Given the description of an element on the screen output the (x, y) to click on. 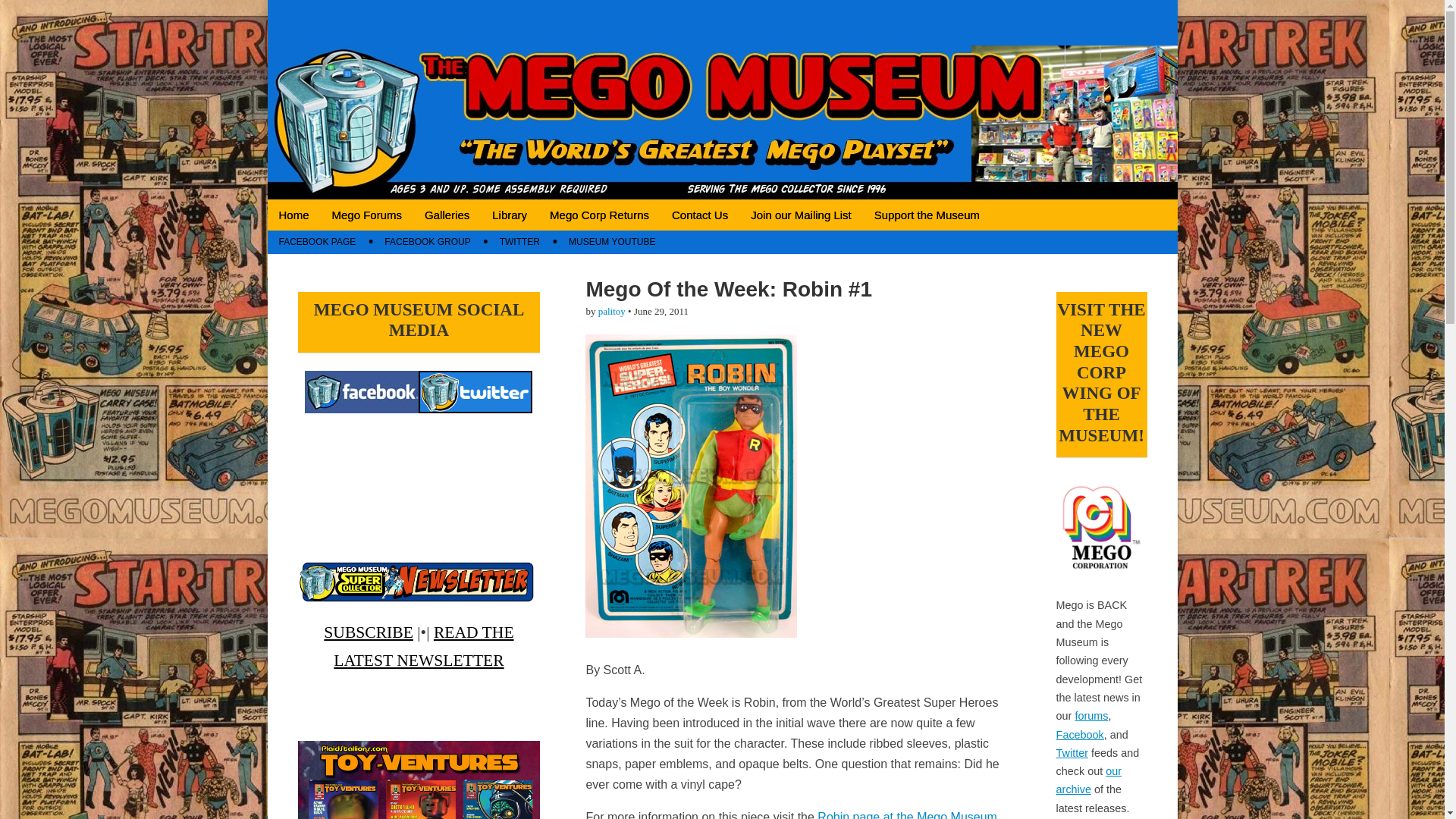
FACEBOOK GROUP (426, 241)
Library (509, 214)
Robin page at the Mego Museum. (908, 814)
Support the Museum (927, 214)
FACEBOOK PAGE (316, 241)
Facebook (1080, 734)
SUBSCRIBE (368, 632)
MUSEUM YOUTUBE (611, 241)
forums (1091, 715)
Twitter (1072, 752)
Contact Us (700, 214)
our archive (1089, 779)
Posts by palitoy (612, 310)
Mego Forums (366, 214)
Home (293, 214)
